Given the description of an element on the screen output the (x, y) to click on. 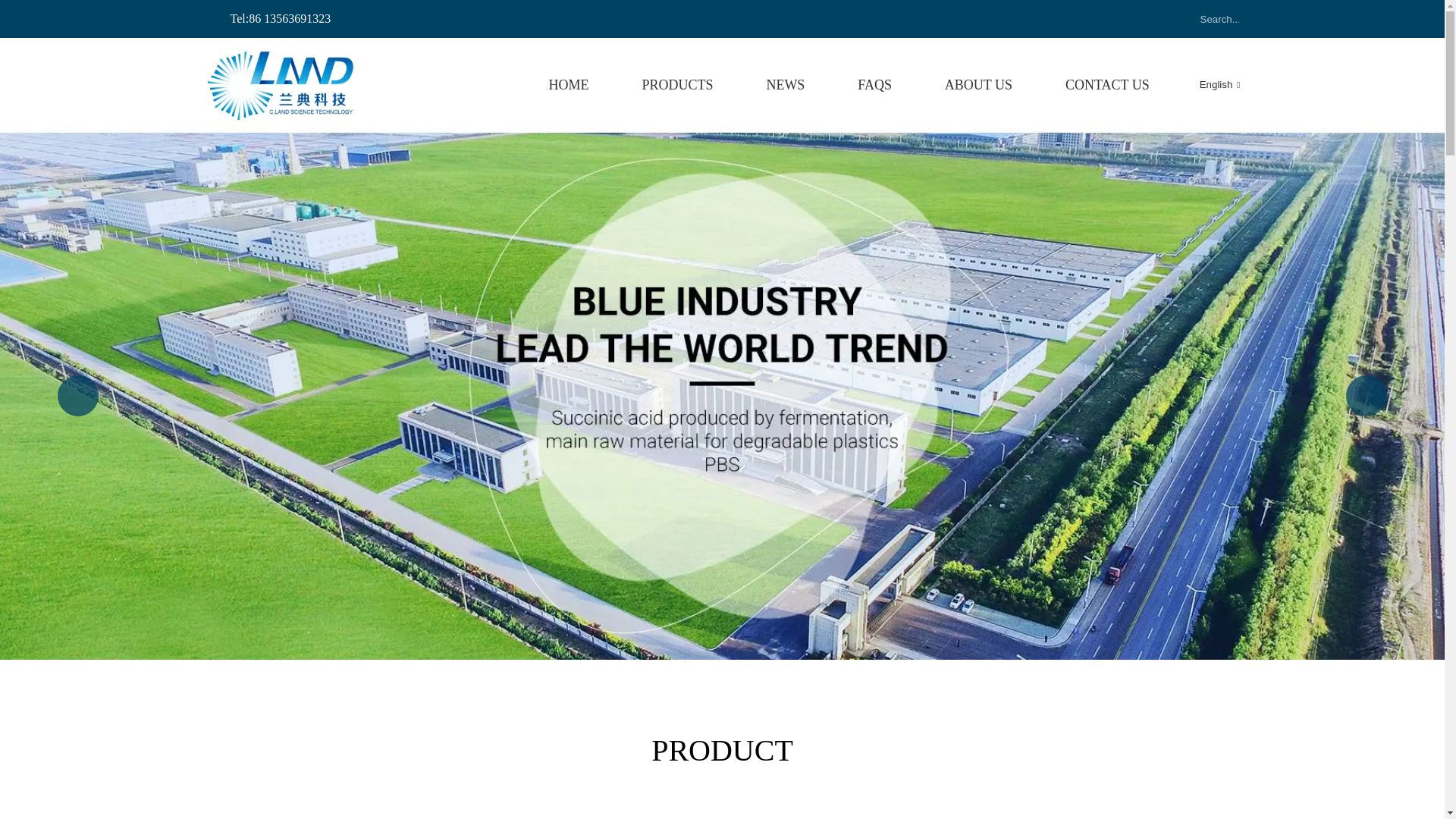
FAQS (874, 84)
HOME (568, 84)
ABOUT US (977, 84)
CONTACT US (1107, 84)
English (1207, 84)
PRODUCTS (677, 84)
NEWS (785, 84)
Tel:86 13563691323 (268, 18)
